Given the description of an element on the screen output the (x, y) to click on. 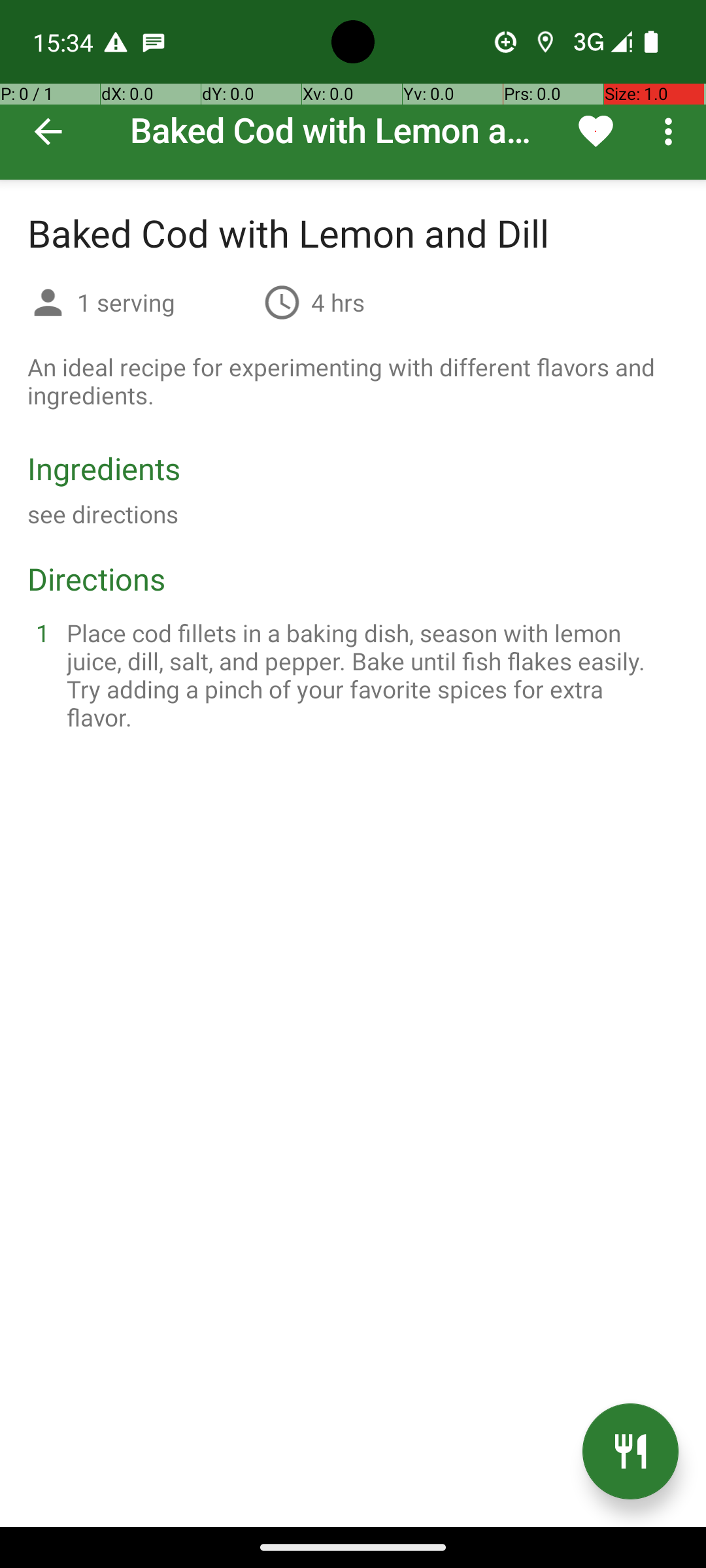
Baked Cod with Lemon and Dill Element type: android.widget.FrameLayout (353, 89)
Remove from favorites Element type: android.widget.Button (595, 131)
1 serving Element type: android.widget.TextView (164, 301)
4 hrs Element type: android.widget.TextView (337, 301)
see directions Element type: android.widget.TextView (102, 513)
Place cod fillets in a baking dish, season with lemon juice, dill, salt, and pepper. Bake until fish flakes easily. Try adding a pinch of your favorite spices for extra flavor. Element type: android.widget.TextView (368, 674)
